Given the description of an element on the screen output the (x, y) to click on. 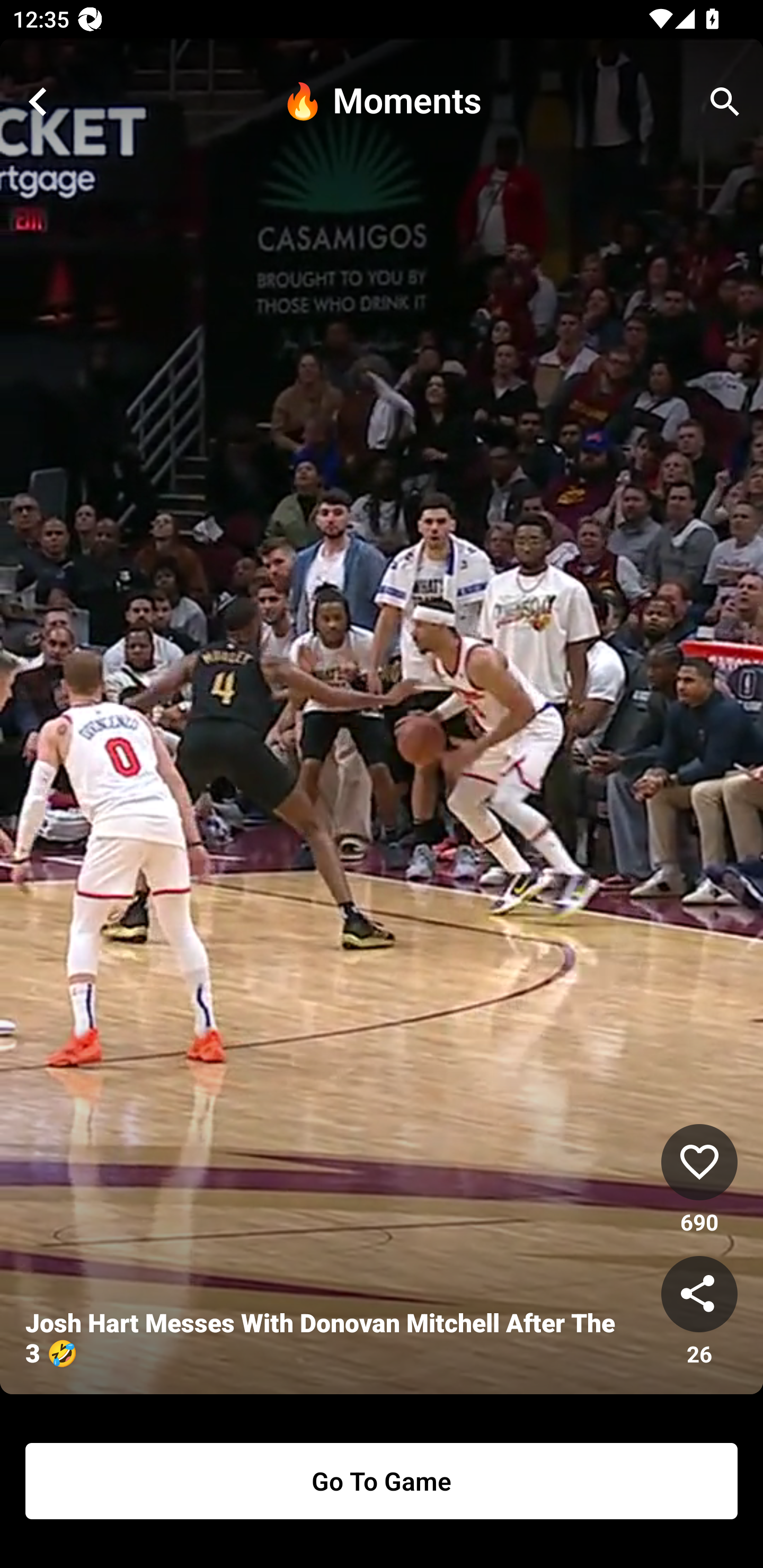
close (38, 101)
search (724, 101)
like 690 690 Likes (699, 1180)
share 26 26 Shares (699, 1311)
Go To Game (381, 1480)
